Given the description of an element on the screen output the (x, y) to click on. 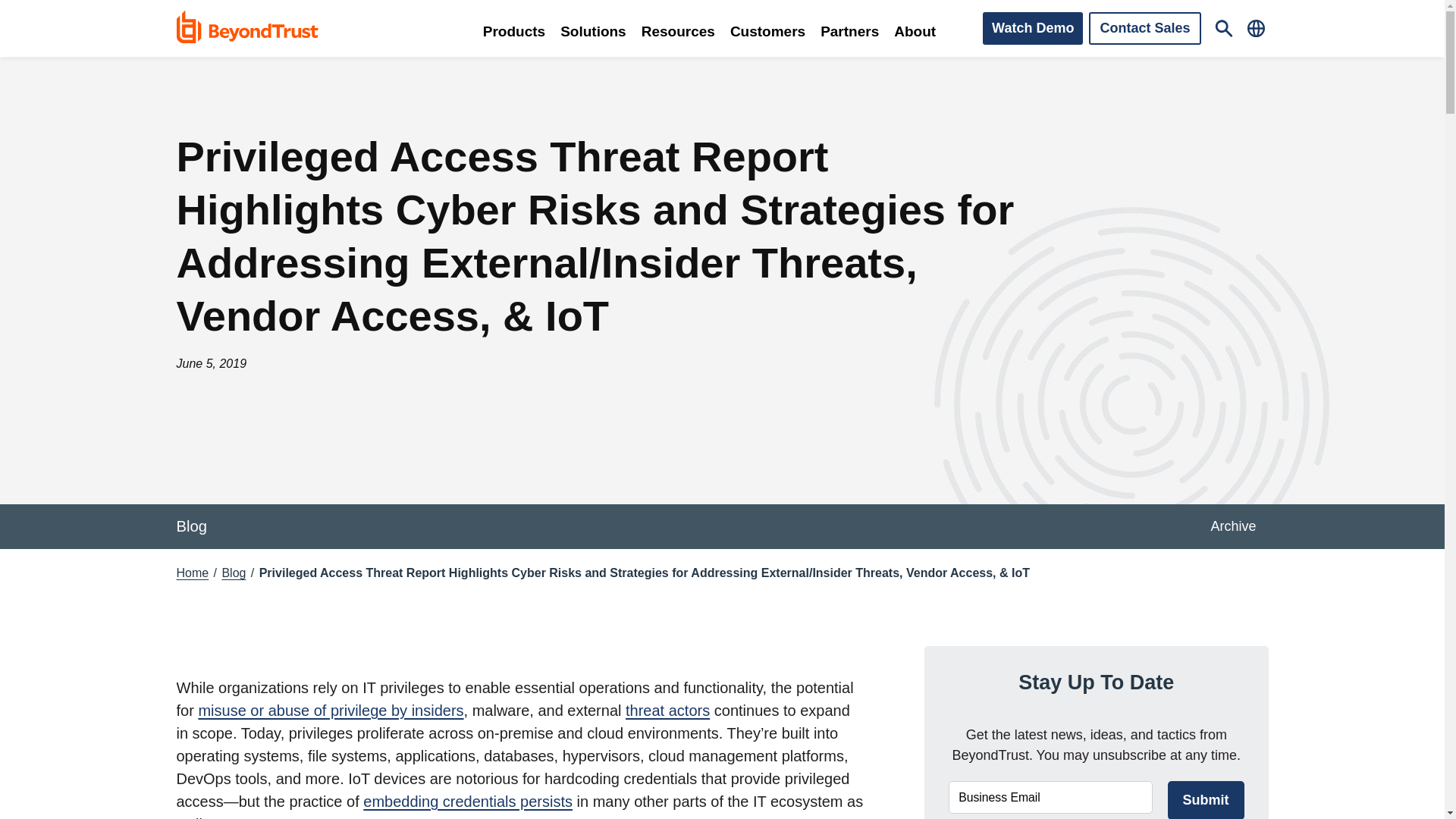
Home (192, 573)
About (914, 28)
Customers (767, 28)
Watch Demo (1032, 28)
Blog (233, 573)
Resources (677, 28)
threat actors (668, 710)
Products (514, 28)
Archive (1233, 526)
Partners (849, 28)
Solutions (593, 28)
Contact Sales (1144, 28)
misuse or abuse of privilege by insiders (330, 710)
Blog (197, 526)
embedding credentials persists (467, 801)
